Given the description of an element on the screen output the (x, y) to click on. 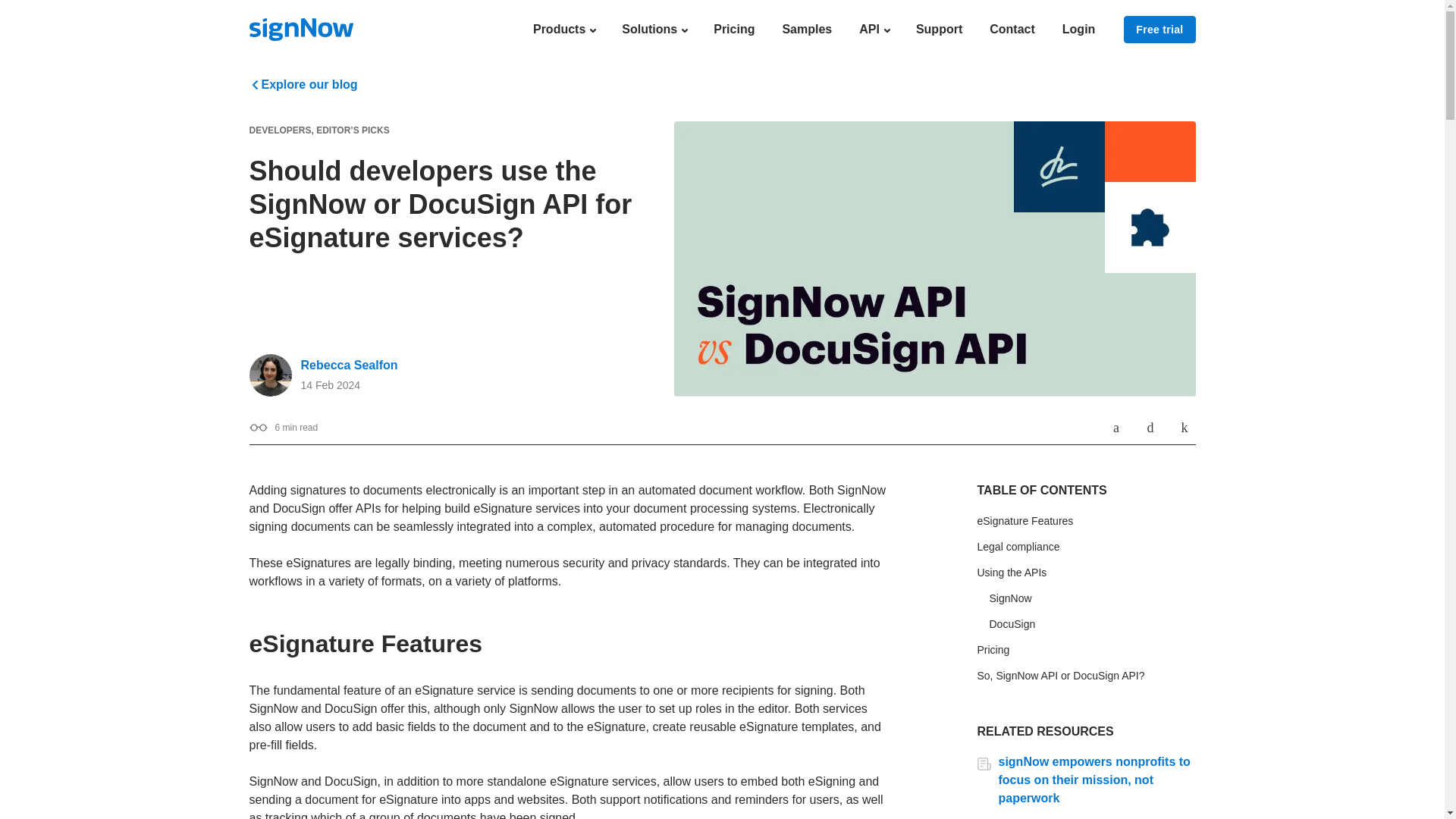
Solutions (653, 29)
Products (563, 29)
Samples (806, 29)
Posts by Rebecca Sealfon (348, 364)
